Given the description of an element on the screen output the (x, y) to click on. 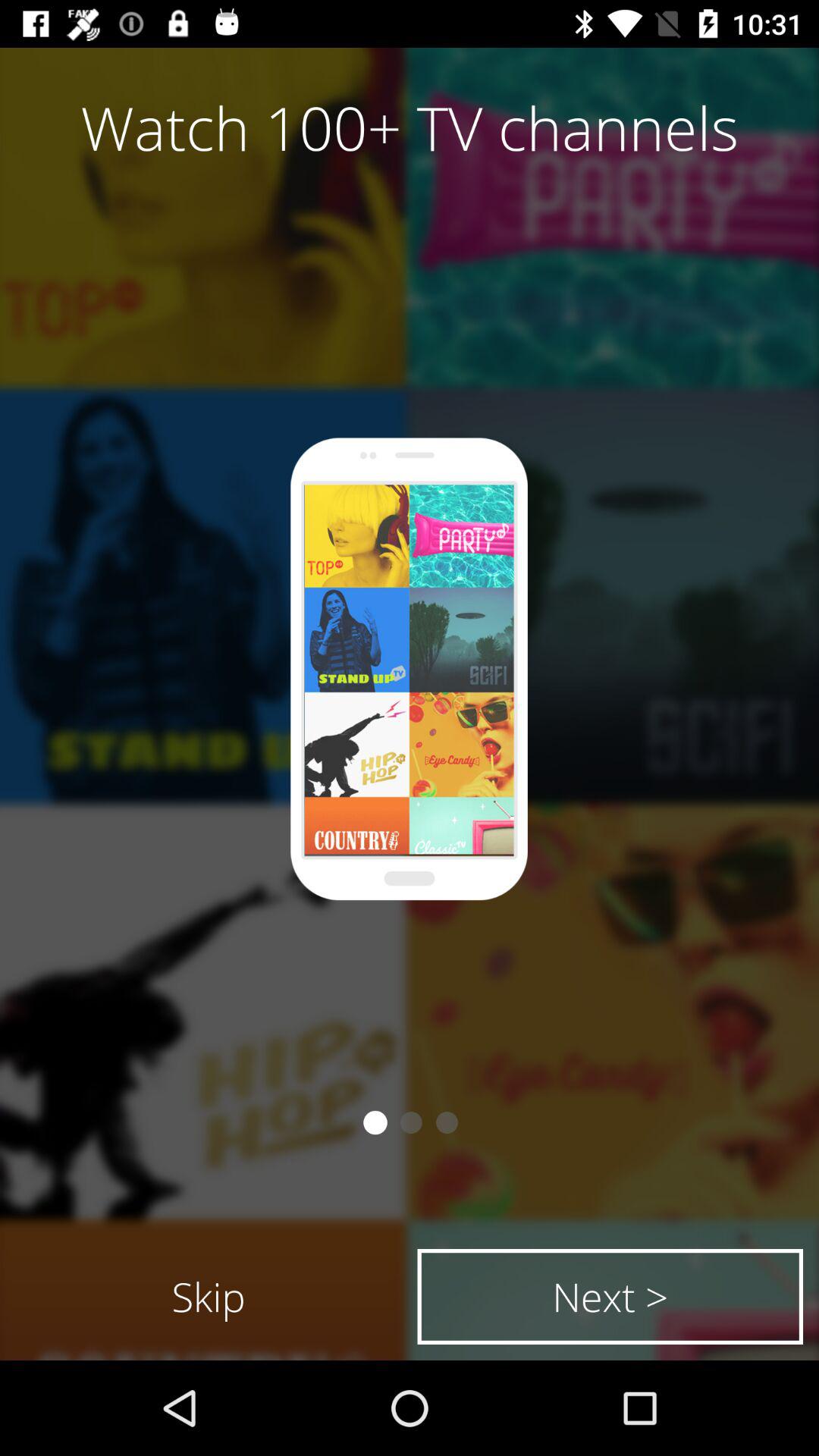
press icon next to next > item (208, 1296)
